Given the description of an element on the screen output the (x, y) to click on. 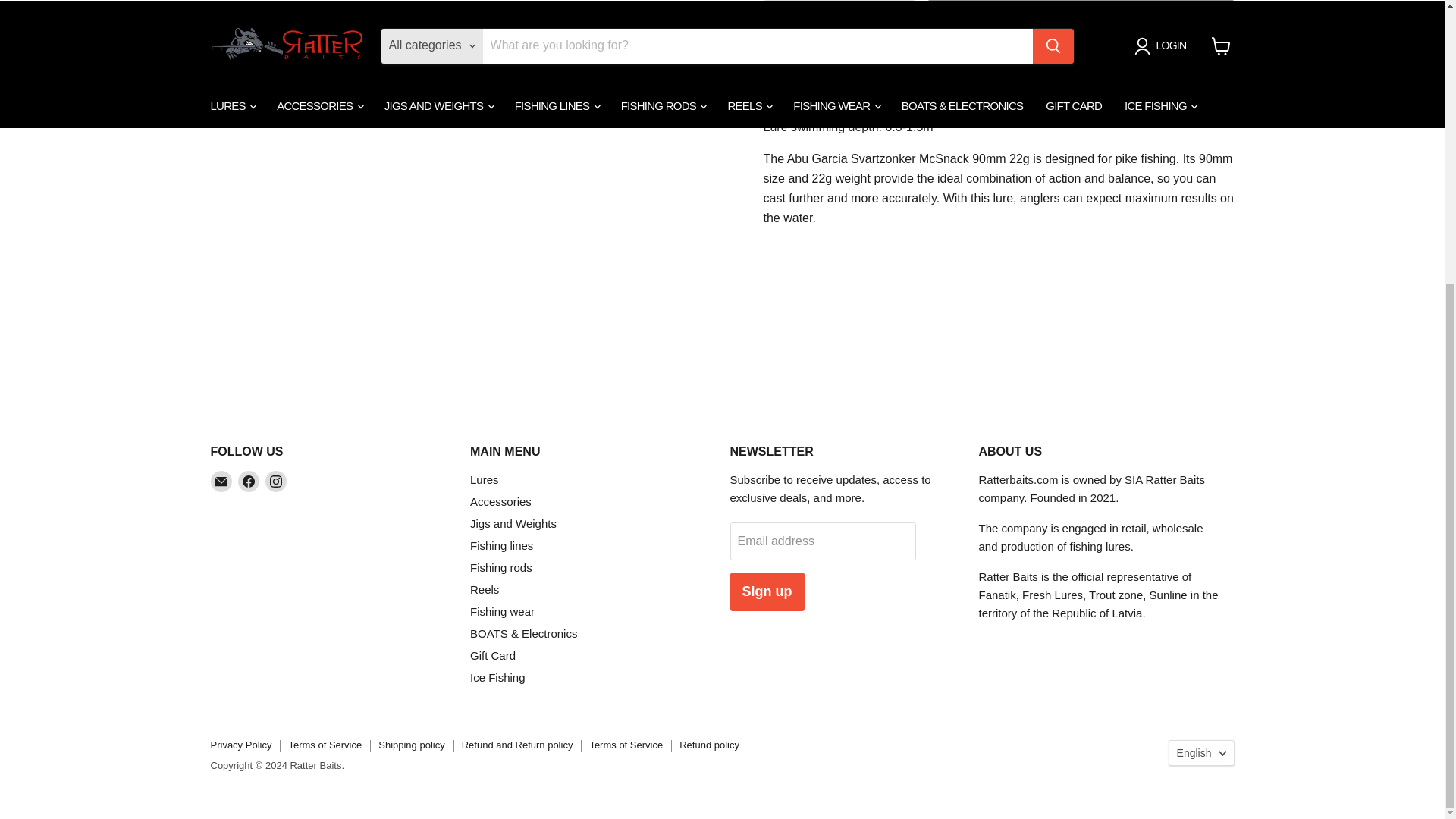
Email (221, 481)
Facebook (248, 481)
Instagram (275, 481)
